Given the description of an element on the screen output the (x, y) to click on. 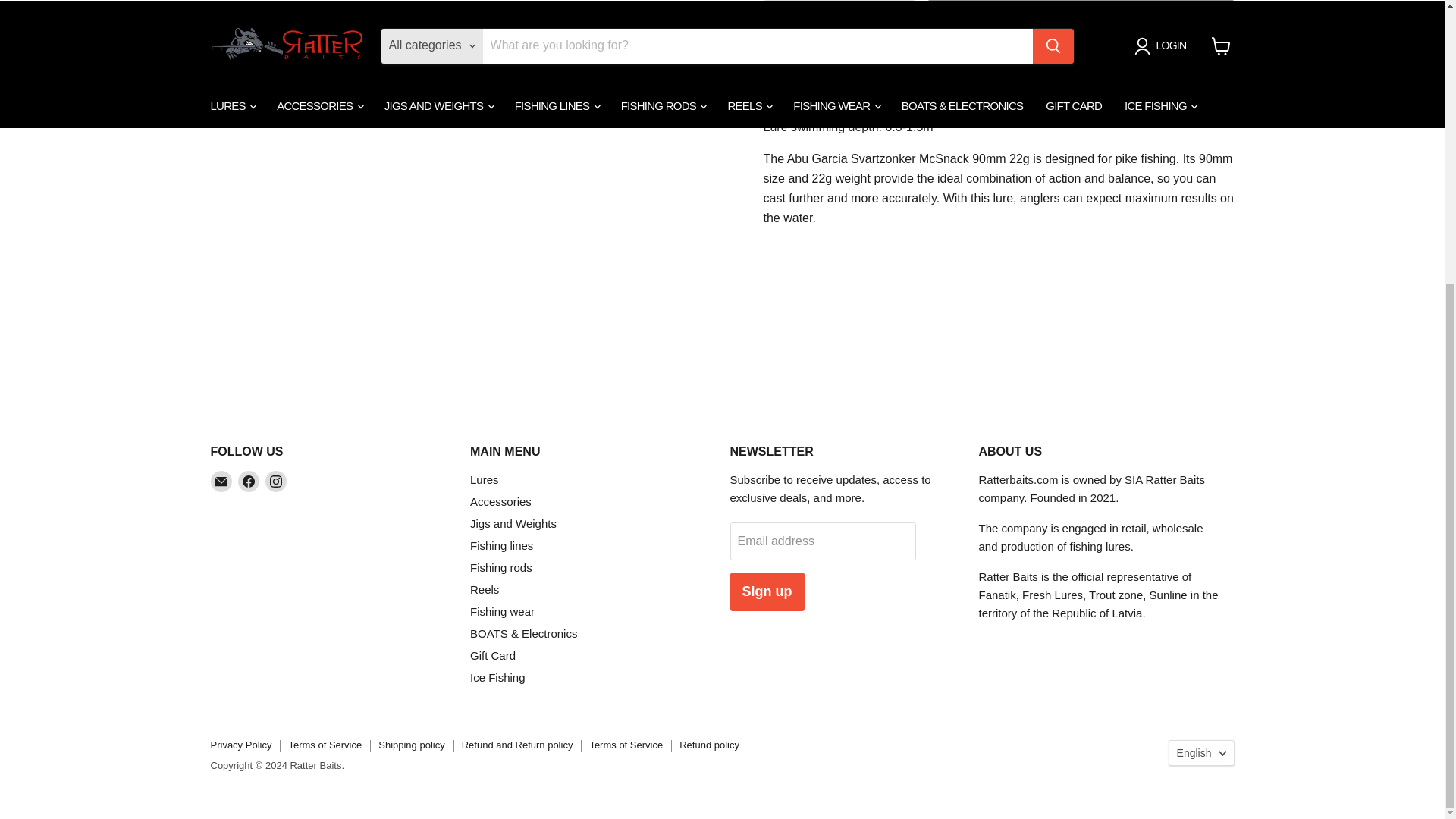
Email (221, 481)
Facebook (248, 481)
Instagram (275, 481)
